Given the description of an element on the screen output the (x, y) to click on. 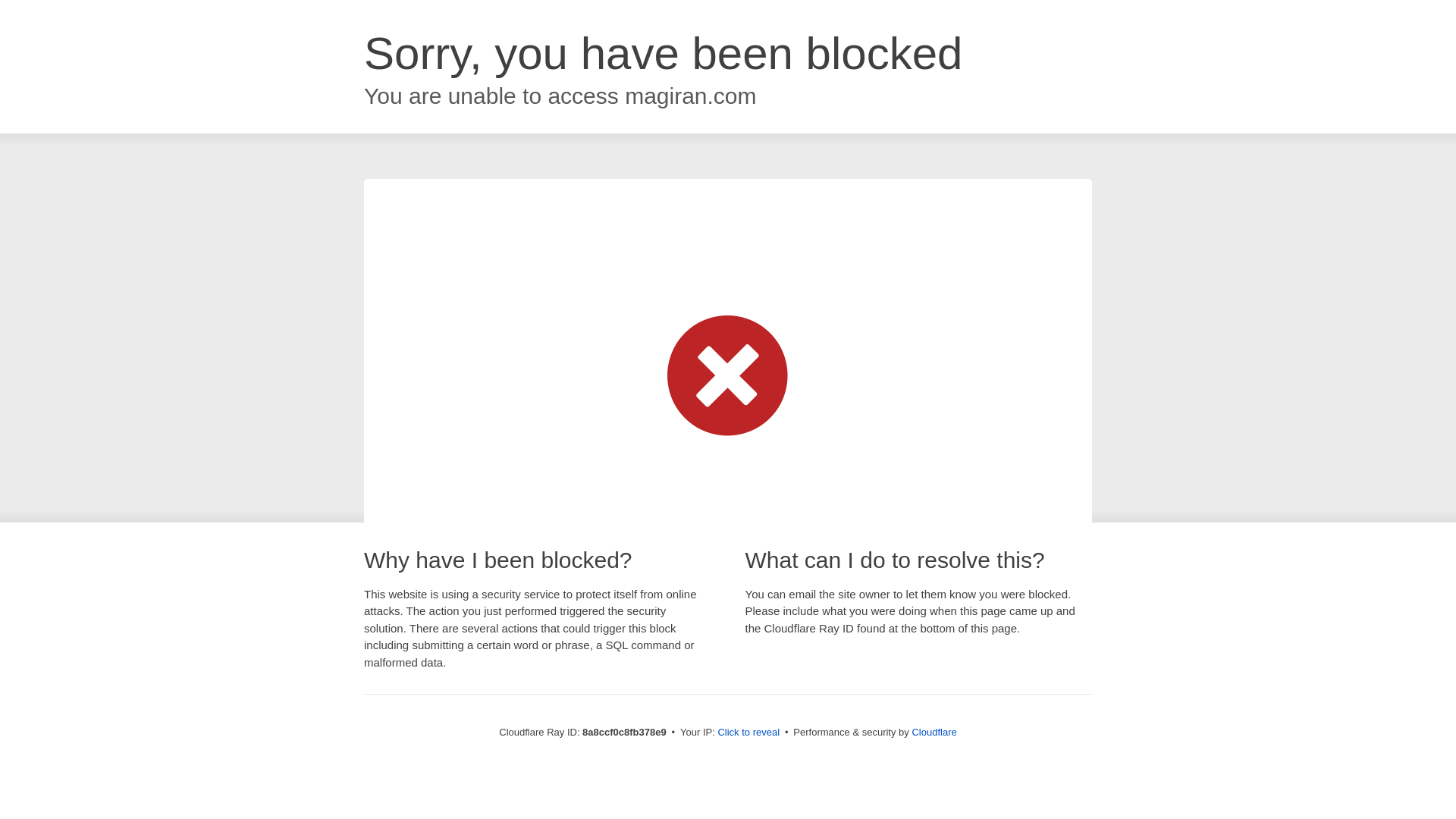
Cloudflare (933, 731)
Click to reveal (747, 732)
